Given the description of an element on the screen output the (x, y) to click on. 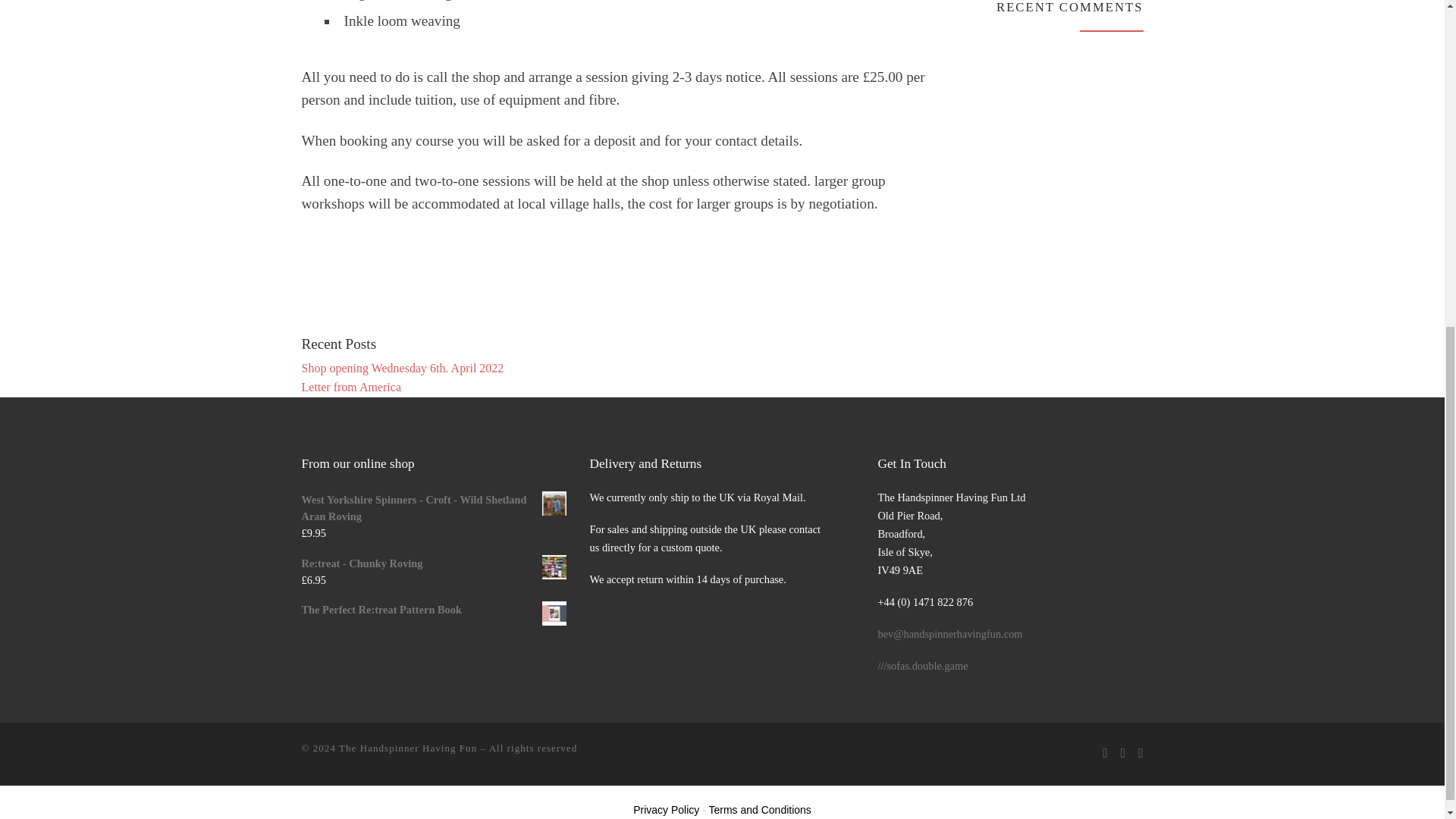
The Handspinner Having Fun (408, 747)
